Given the description of an element on the screen output the (x, y) to click on. 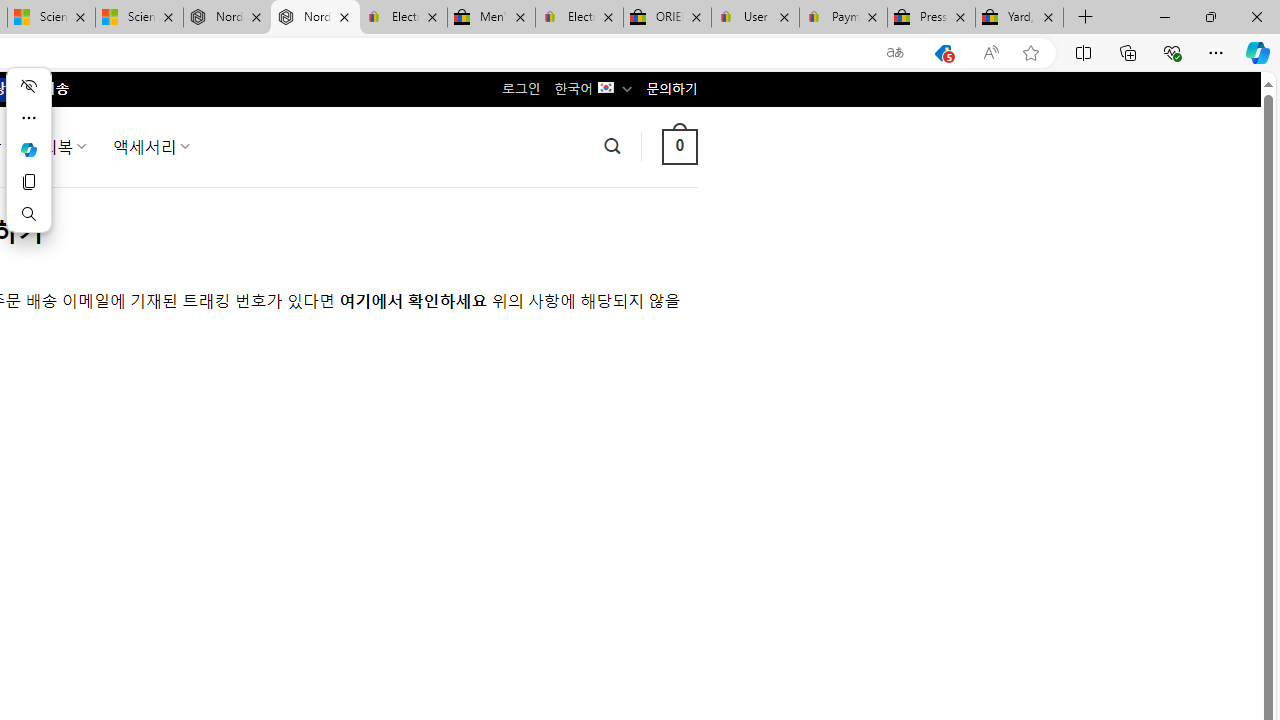
Settings and more (Alt+F) (1215, 52)
This site has coupons! Shopping in Microsoft Edge, 5 (943, 53)
Split screen (1083, 52)
Add this page to favorites (Ctrl+D) (1030, 53)
More actions (28, 117)
User Privacy Notice | eBay (754, 17)
